Given the description of an element on the screen output the (x, y) to click on. 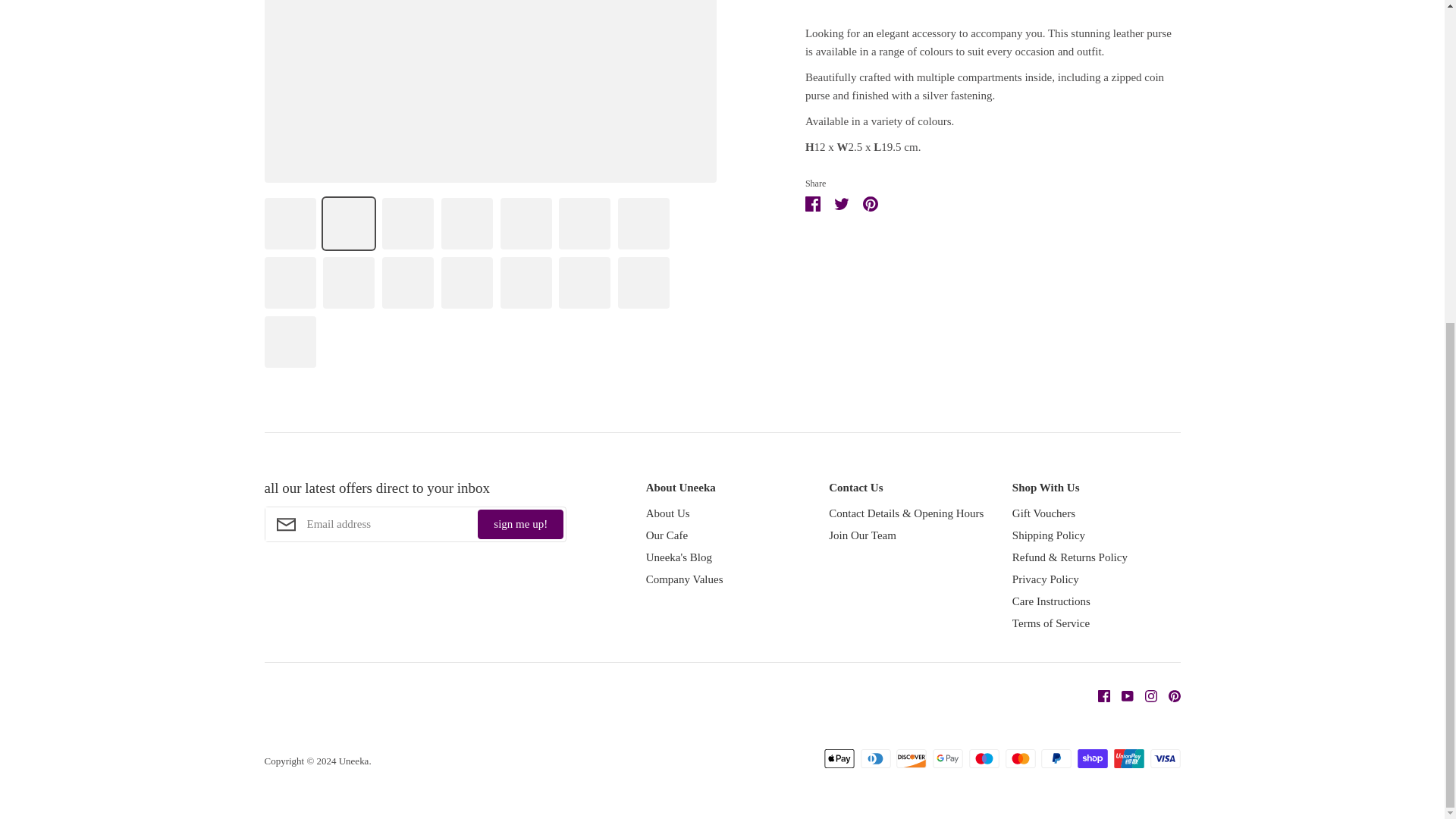
Discover (911, 758)
Apple Pay (839, 758)
PayPal (1056, 758)
Diners Club (874, 758)
Mastercard (1020, 758)
Google Pay (947, 758)
Maestro (983, 758)
Shop Pay (1092, 758)
